Given the description of an element on the screen output the (x, y) to click on. 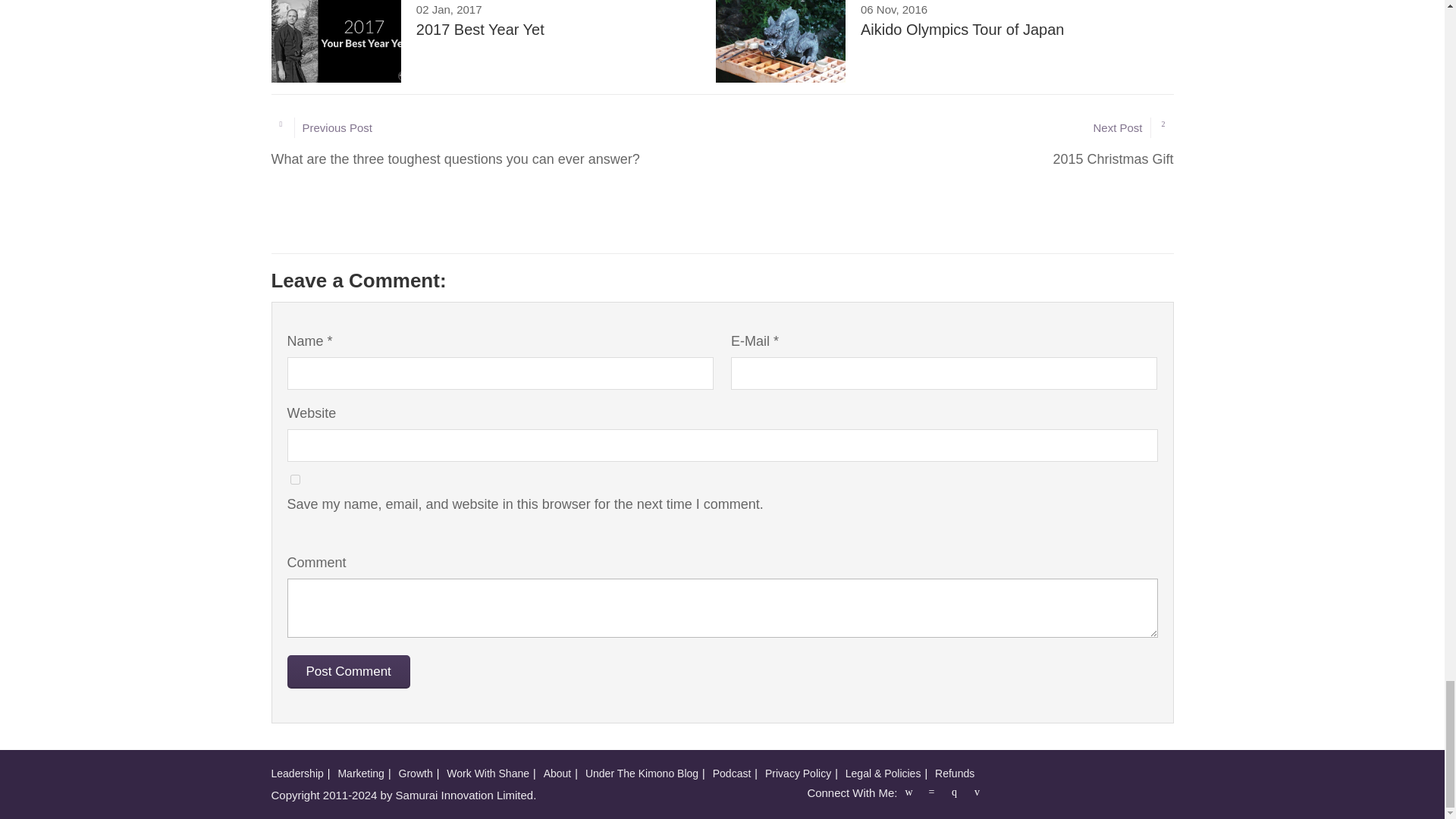
Work With Shane (487, 773)
Post Comment (347, 671)
yes (294, 479)
Marketing (360, 773)
Growth (415, 773)
Post Comment (347, 671)
Leadership (487, 41)
About (296, 773)
